Given the description of an element on the screen output the (x, y) to click on. 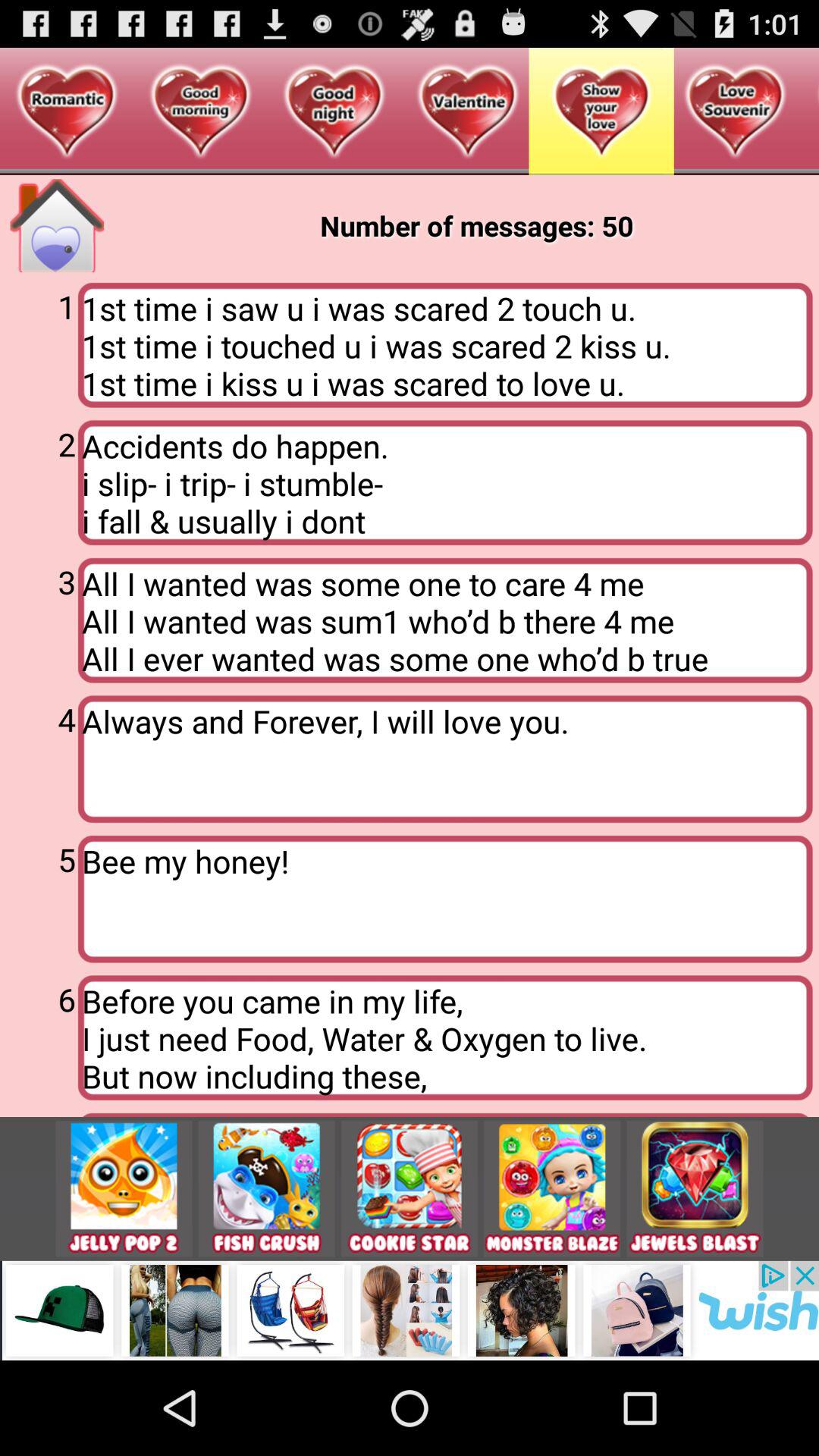
go to the app (694, 1188)
